Given the description of an element on the screen output the (x, y) to click on. 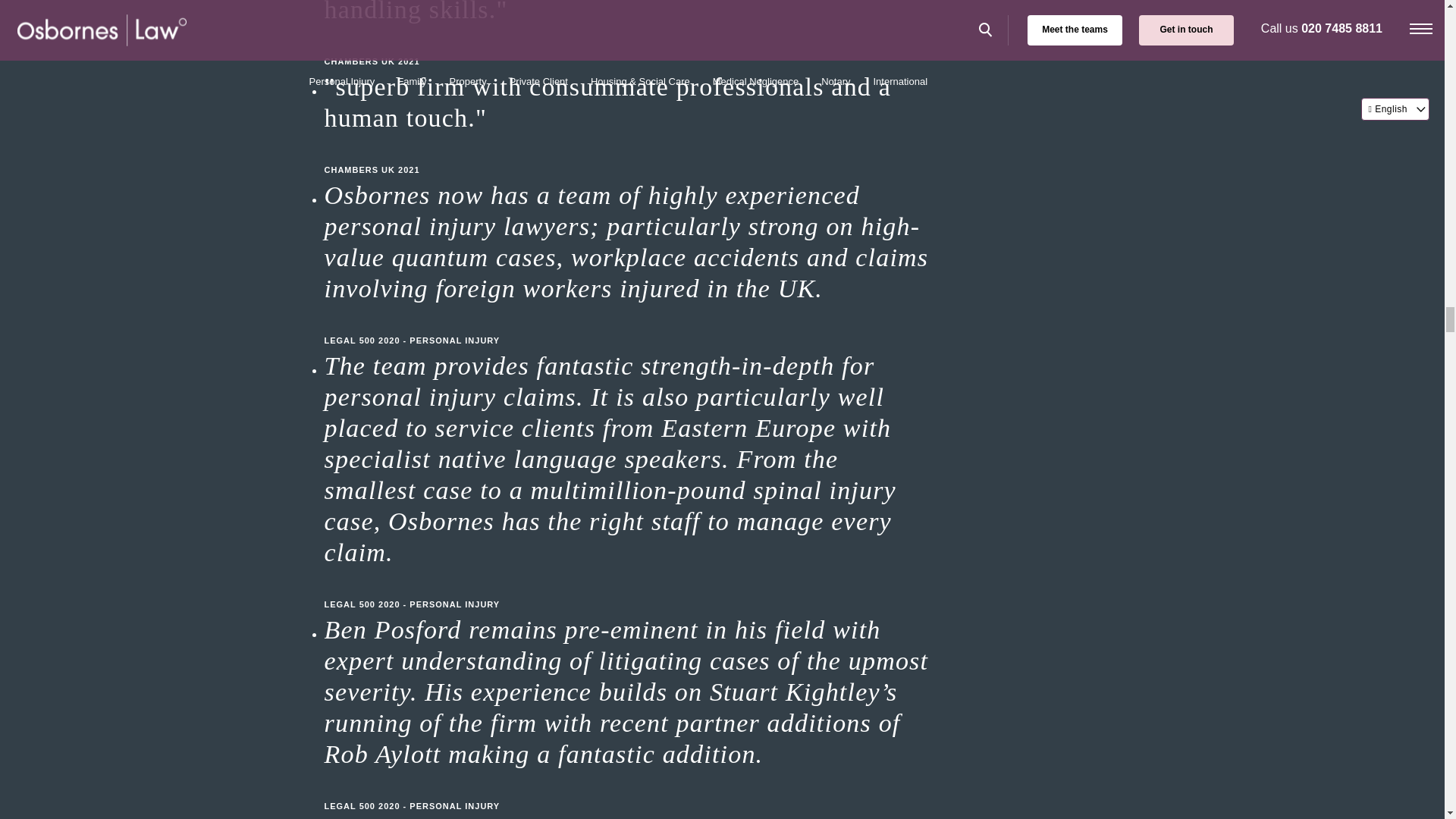
LEGAL 500 2020 - PERSONAL INJURY (627, 324)
LEGAL 500 2020 - PERSONAL INJURY (627, 790)
LEGAL 500 2020 - PERSONAL INJURY (627, 589)
CHAMBERS UK 2021 (627, 46)
CHAMBERS UK 2021 (627, 154)
